Given the description of an element on the screen output the (x, y) to click on. 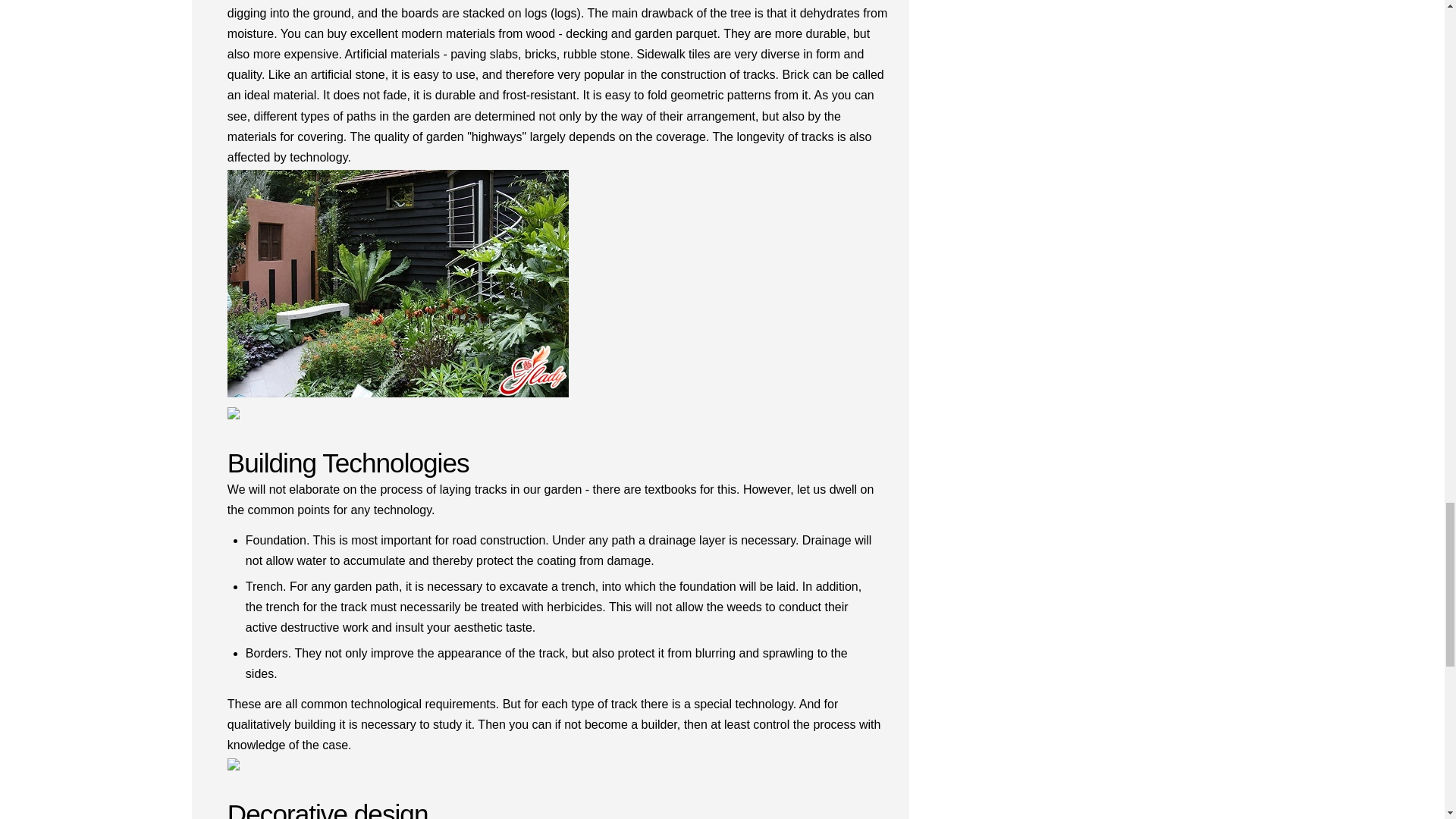
comfortable walkways in the garden with your own hands (398, 285)
